Given the description of an element on the screen output the (x, y) to click on. 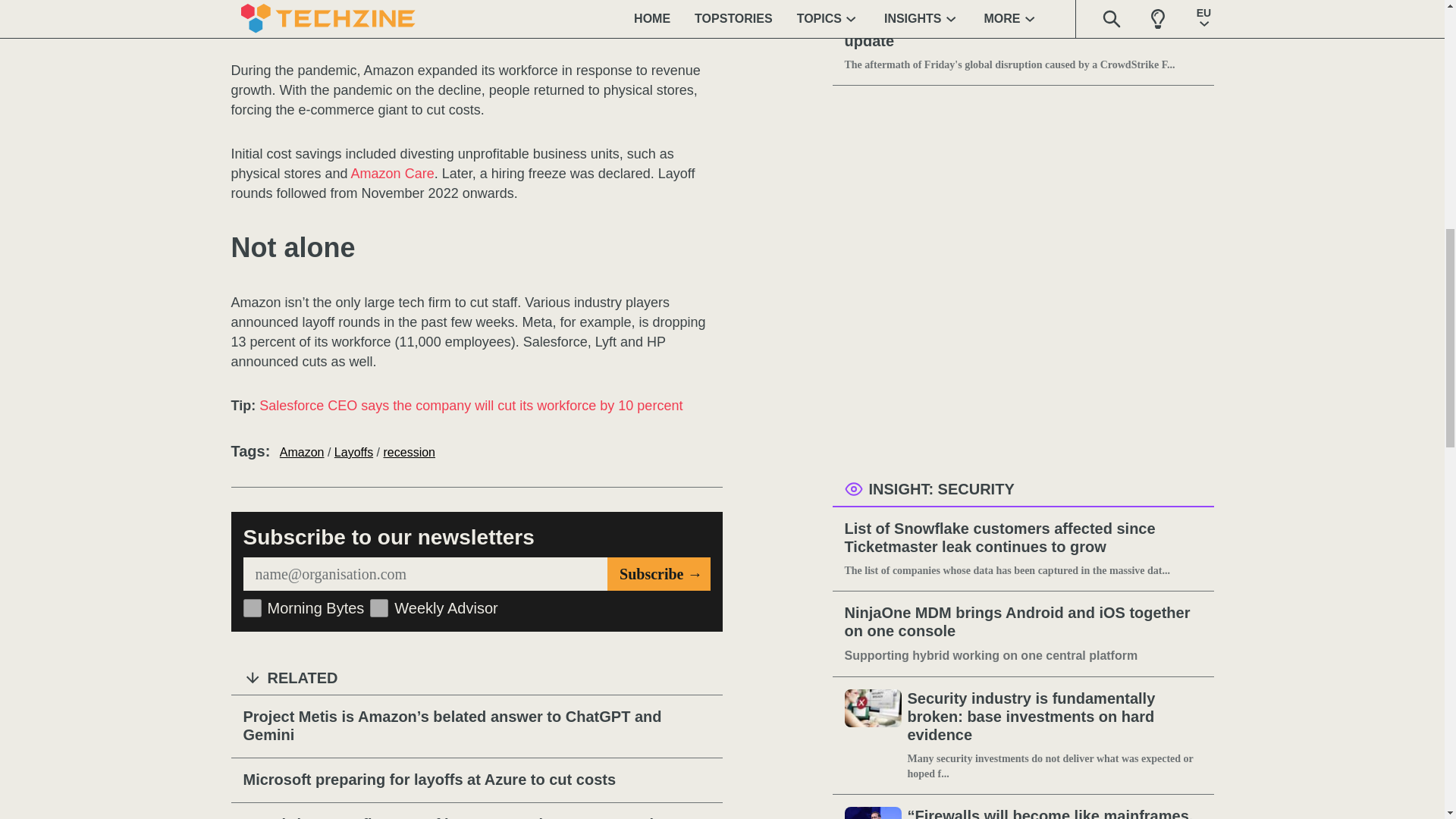
NinjaOne MDM brings Android and iOS together on one console (1023, 622)
CrowdStrike licks its wounds after catastrophic update (1023, 32)
Microsoft preparing for layoffs at Azure to cut costs (476, 780)
84623981521405447 (378, 607)
84623970802861205 (251, 607)
